Given the description of an element on the screen output the (x, y) to click on. 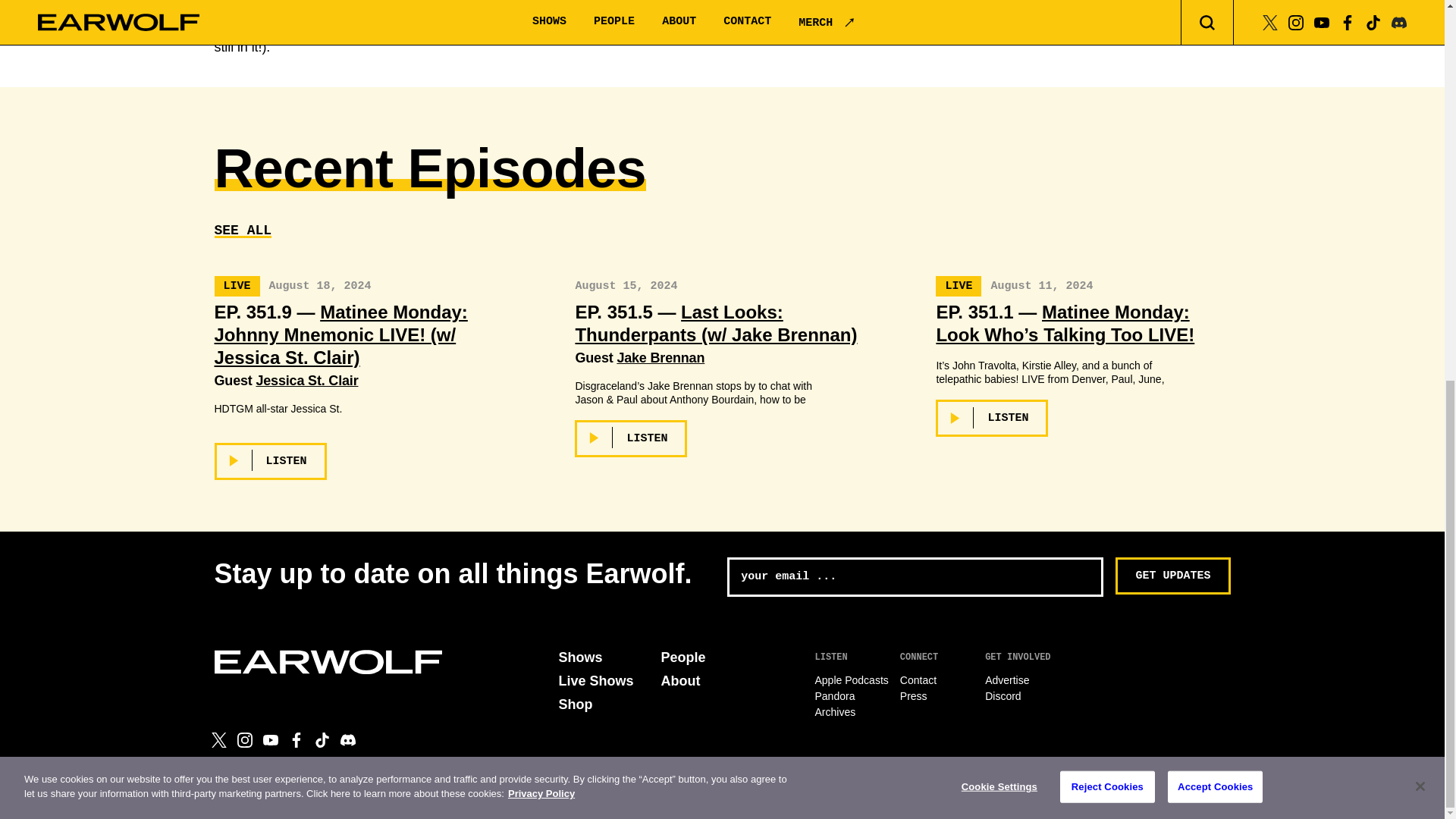
Earwolf (327, 662)
LISTEN (270, 461)
SEE ALL (242, 230)
Jessica St. Clair (307, 380)
Get Updates (1172, 575)
